Given the description of an element on the screen output the (x, y) to click on. 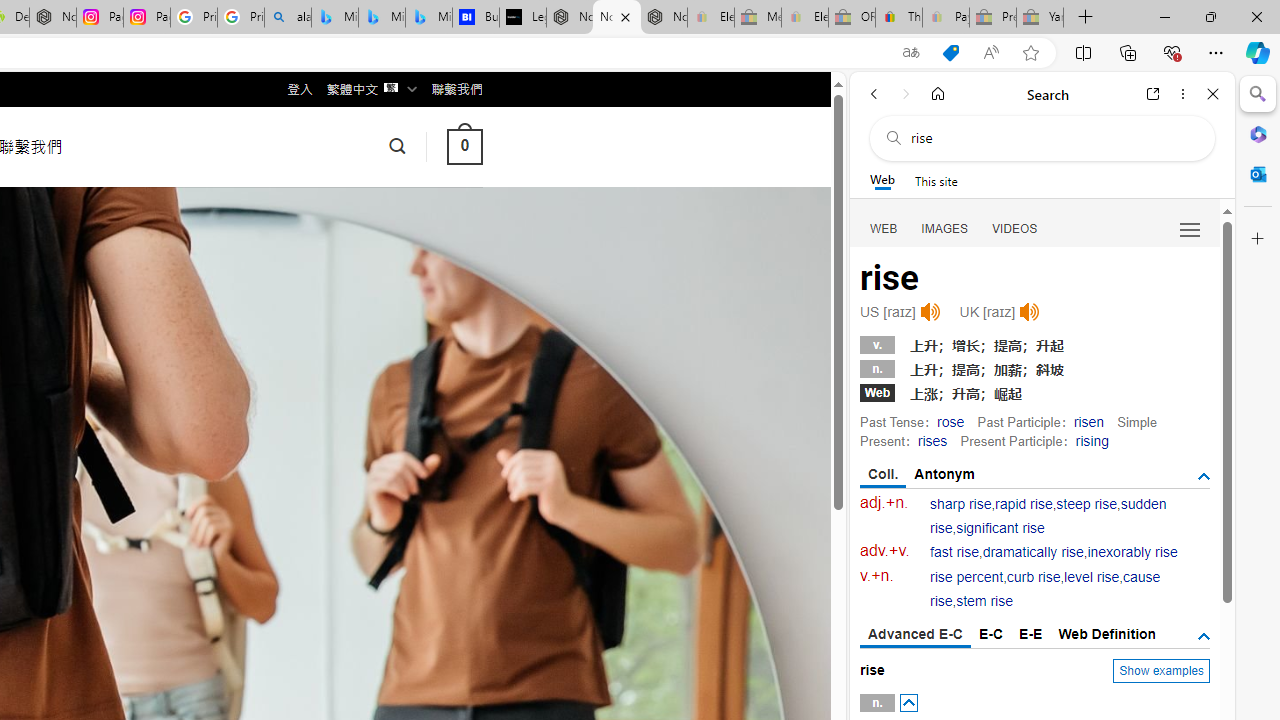
Yard, Garden & Outdoor Living - Sleeping (1040, 17)
risen (1088, 421)
Payments Terms of Use | eBay.com - Sleeping (945, 17)
 0  (464, 146)
steep rise (1086, 503)
Threats and offensive language policy | eBay (898, 17)
sharp rise (961, 503)
sudden rise (1048, 515)
Antonym (945, 473)
